Given the description of an element on the screen output the (x, y) to click on. 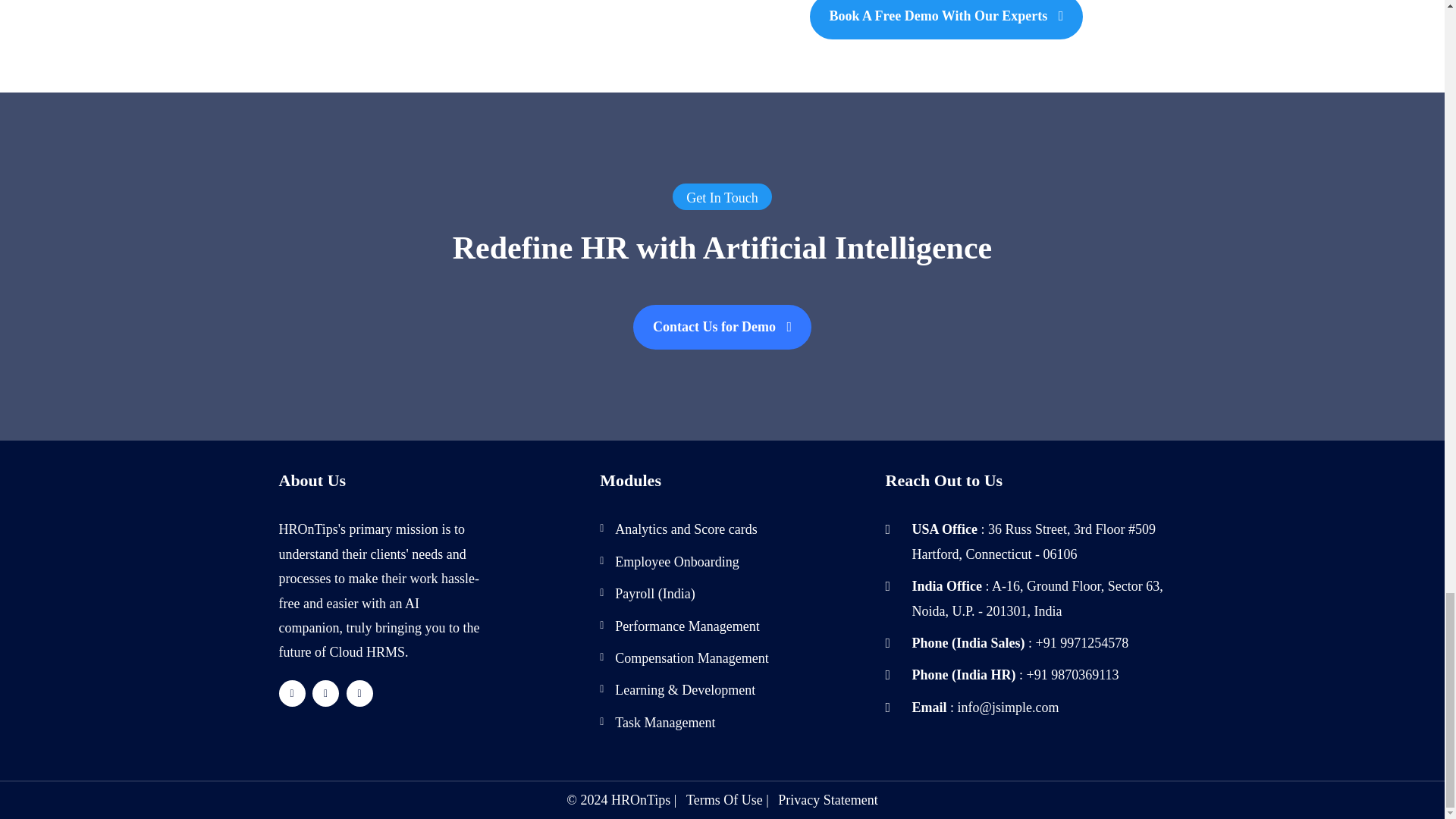
Contact Us for Demo (721, 326)
Book A Free Demo With Our Experts (946, 19)
